Given the description of an element on the screen output the (x, y) to click on. 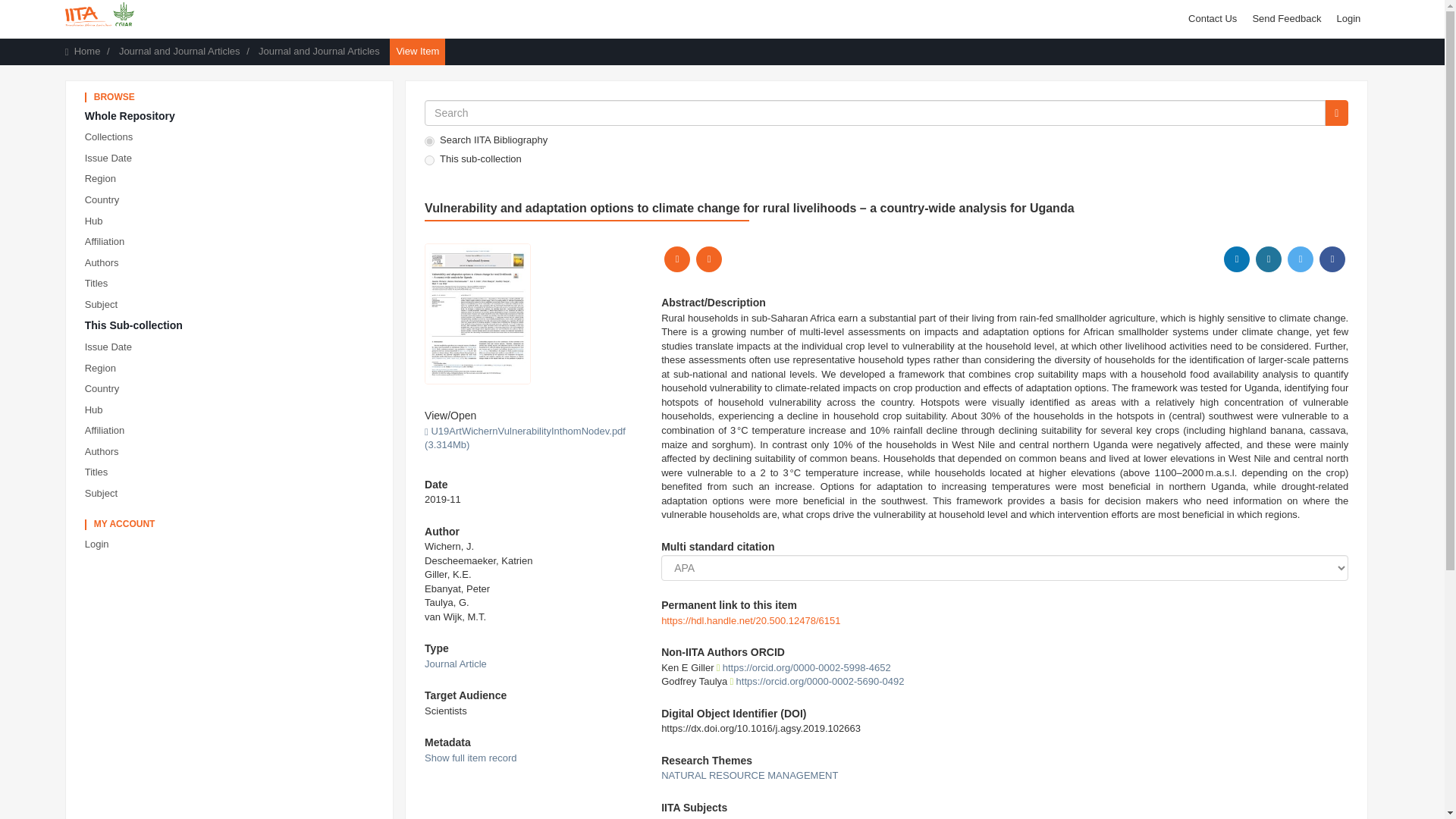
Authors (232, 263)
Journal and Journal Articles (179, 50)
Contact Us (1212, 18)
Send Feedback (1285, 18)
Print (676, 258)
Affiliation (232, 241)
Login (1347, 18)
This Sub-collection (232, 326)
Region (232, 179)
Issue Date (232, 347)
